Given the description of an element on the screen output the (x, y) to click on. 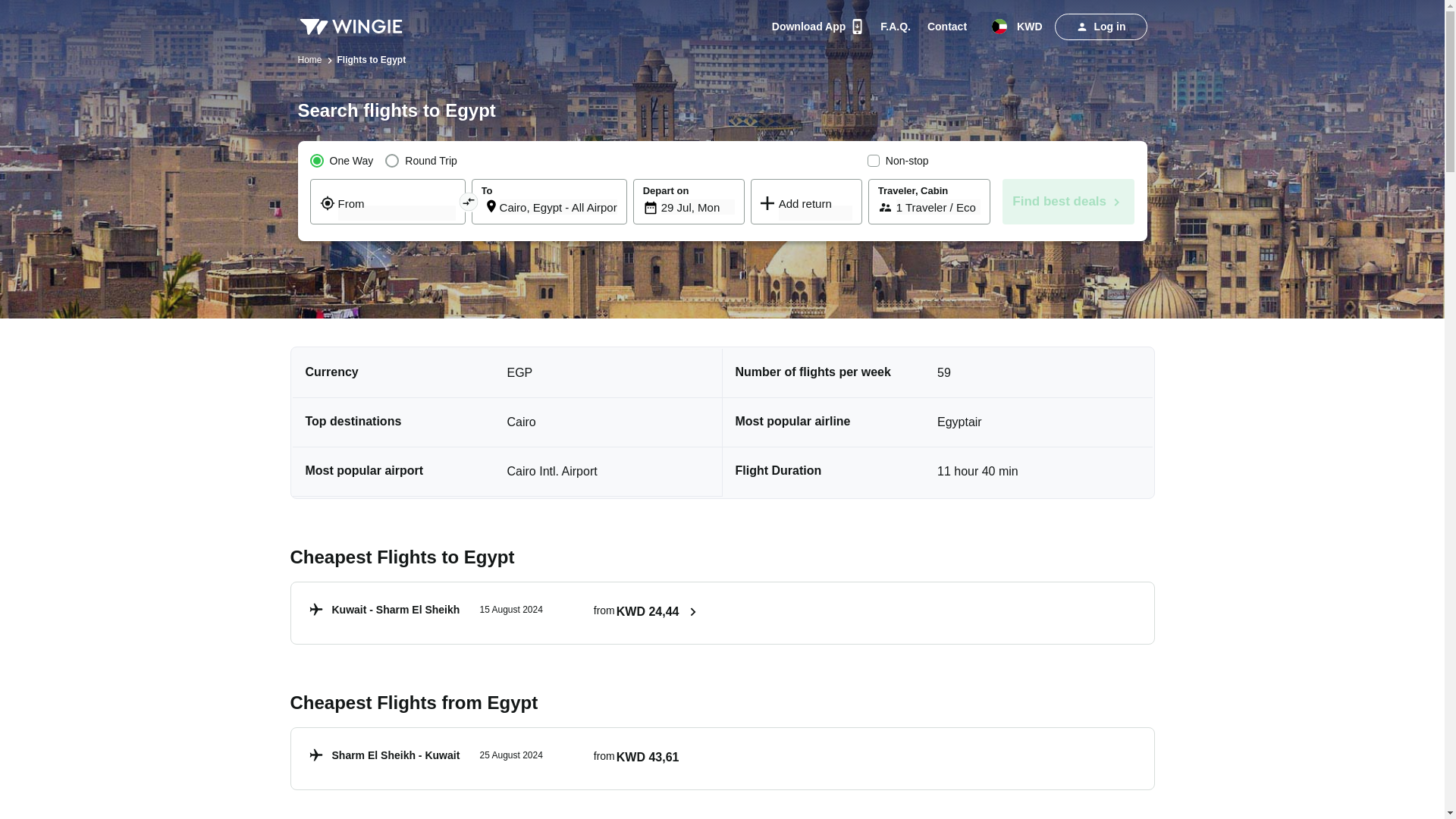
KWD (1020, 26)
Sharm El Sheikh to Kuwait flights (504, 759)
Origin Destination Switch (467, 200)
F.A.Q. (895, 25)
Contact (504, 759)
Cairo, Egypt - All Airports (946, 25)
Log in (504, 613)
29 Jul, Mon (558, 206)
Find best deals (1100, 26)
Download App (698, 206)
F.A.Q. (1069, 201)
Contact (817, 25)
Home (895, 25)
